Given the description of an element on the screen output the (x, y) to click on. 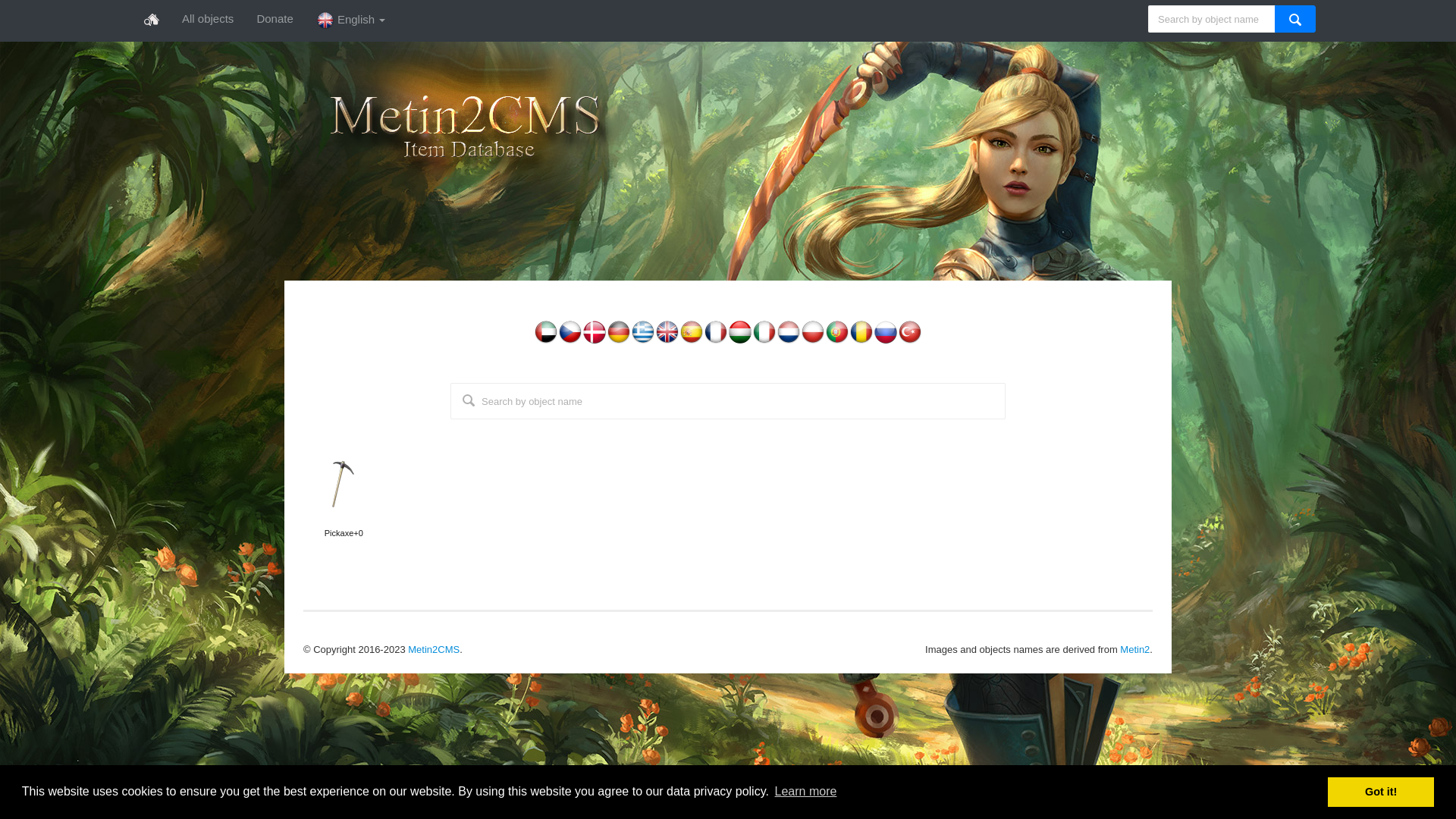
Metin2 Element type: text (1134, 649)
All objects Element type: text (207, 18)
Pickaxe+0 Element type: text (343, 501)
Home Element type: hover (151, 19)
Metin2CMS Element type: text (433, 649)
Learn more Element type: text (804, 791)
Got it! Element type: text (1380, 791)
Donate Element type: text (274, 18)
English Element type: text (350, 20)
